Given the description of an element on the screen output the (x, y) to click on. 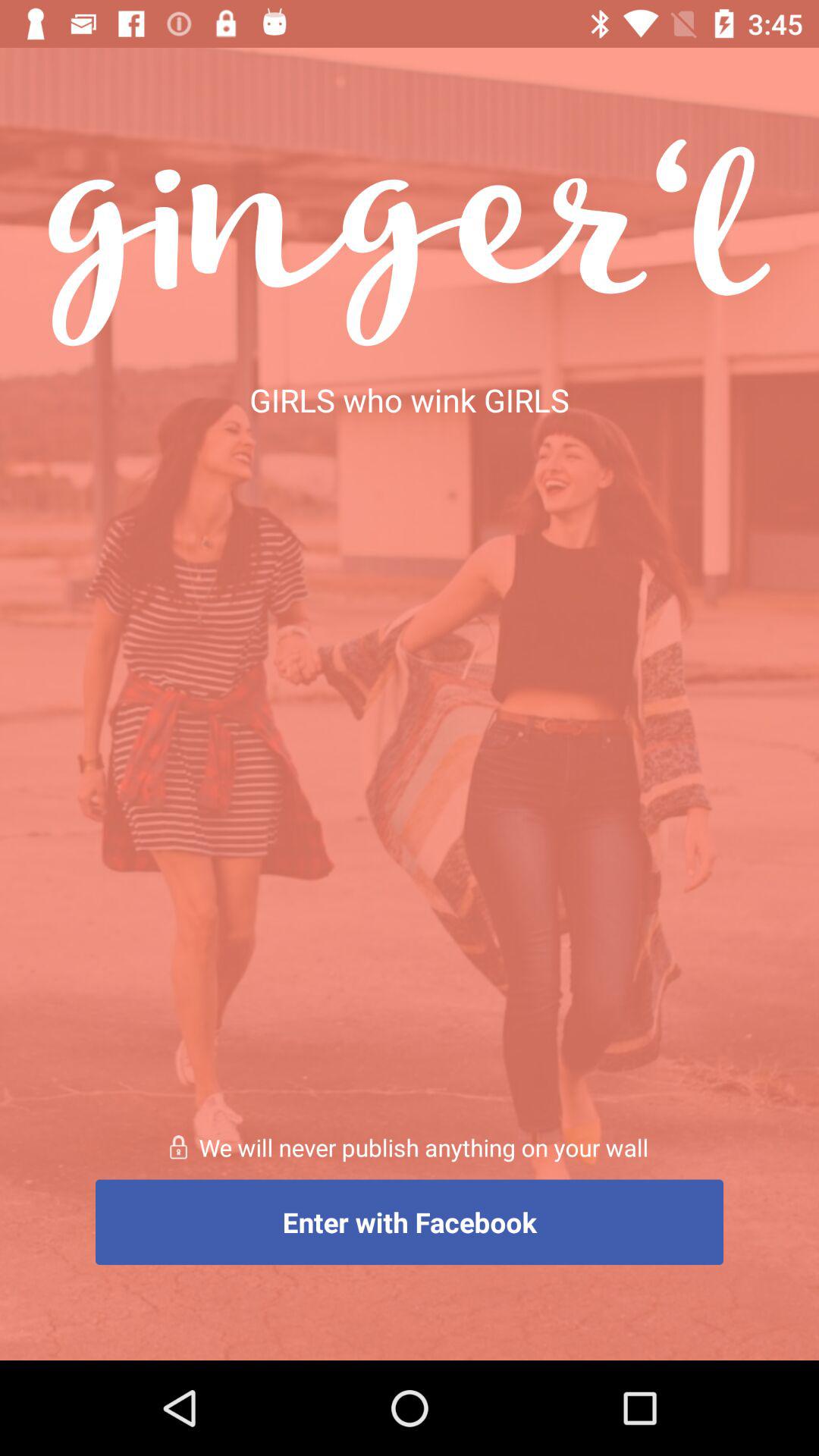
swipe until the enter with facebook icon (409, 1221)
